Given the description of an element on the screen output the (x, y) to click on. 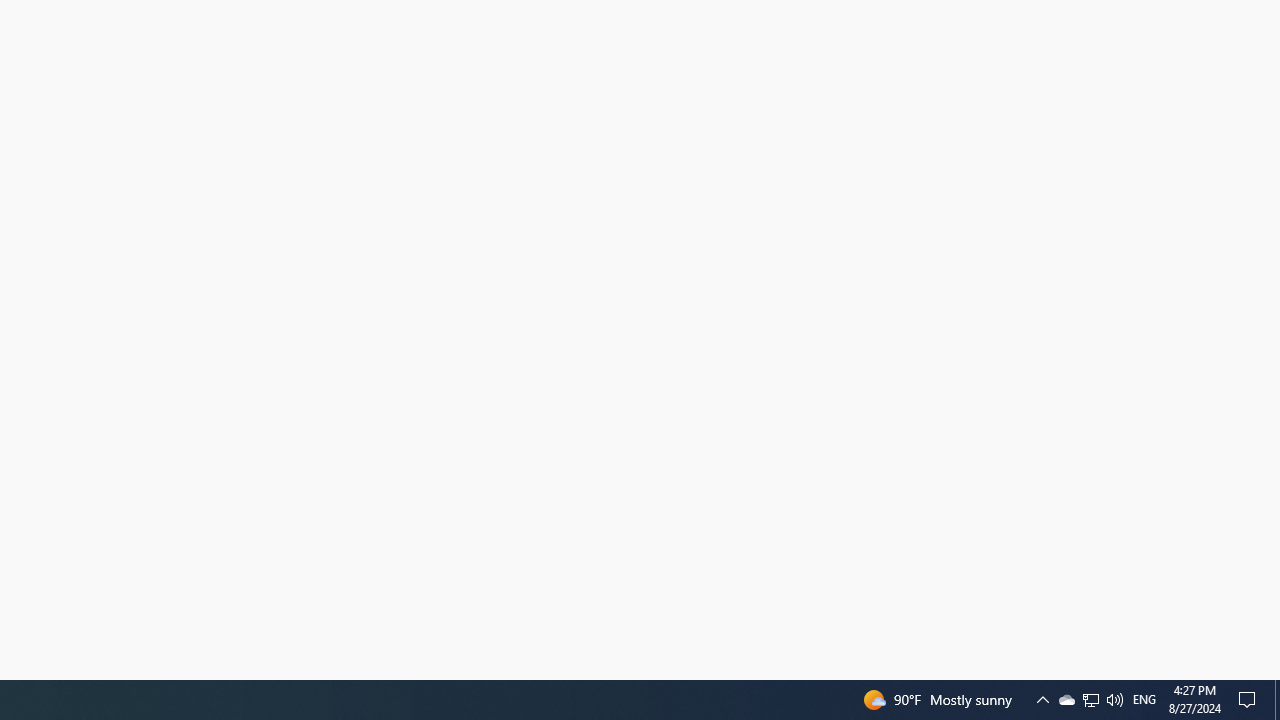
Tray Input Indicator - English (United States) (1066, 699)
Show desktop (1144, 699)
Q2790: 100% (1277, 699)
User Promoted Notification Area (1114, 699)
Action Center, No new notifications (1091, 699)
Notification Chevron (1090, 699)
